Given the description of an element on the screen output the (x, y) to click on. 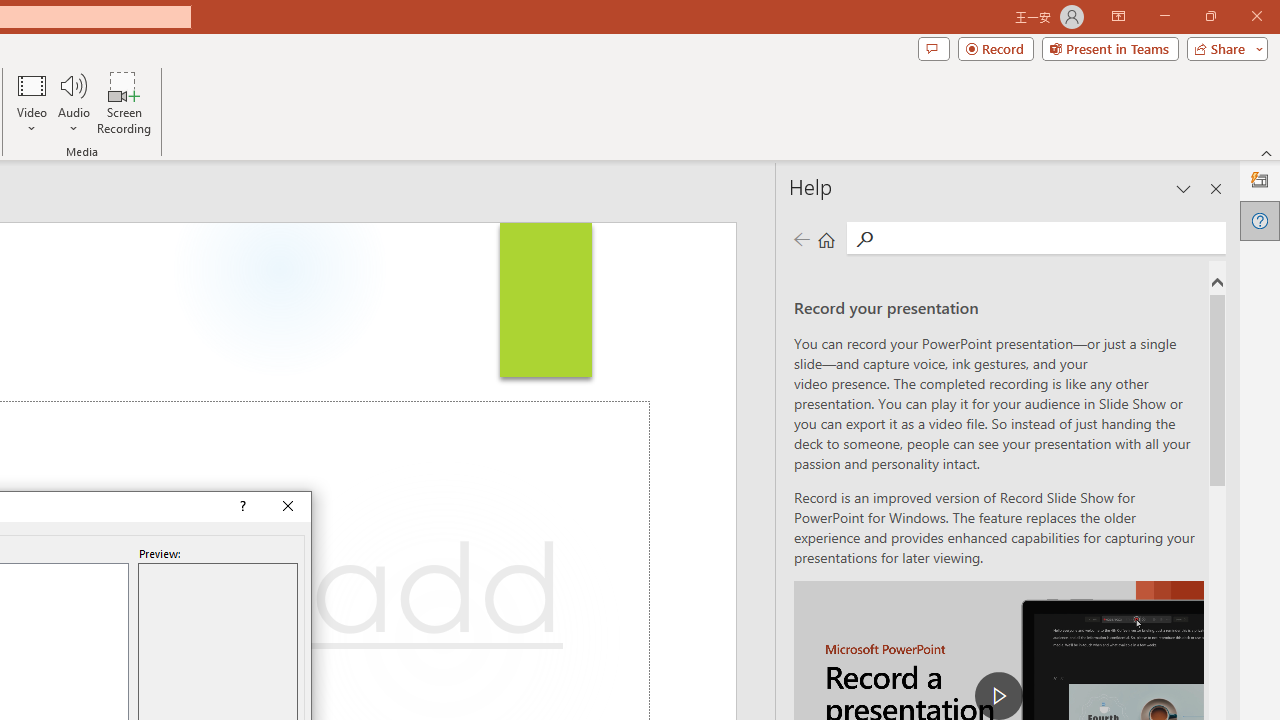
Previous page (801, 238)
Screen Recording... (123, 102)
Video (31, 102)
